Given the description of an element on the screen output the (x, y) to click on. 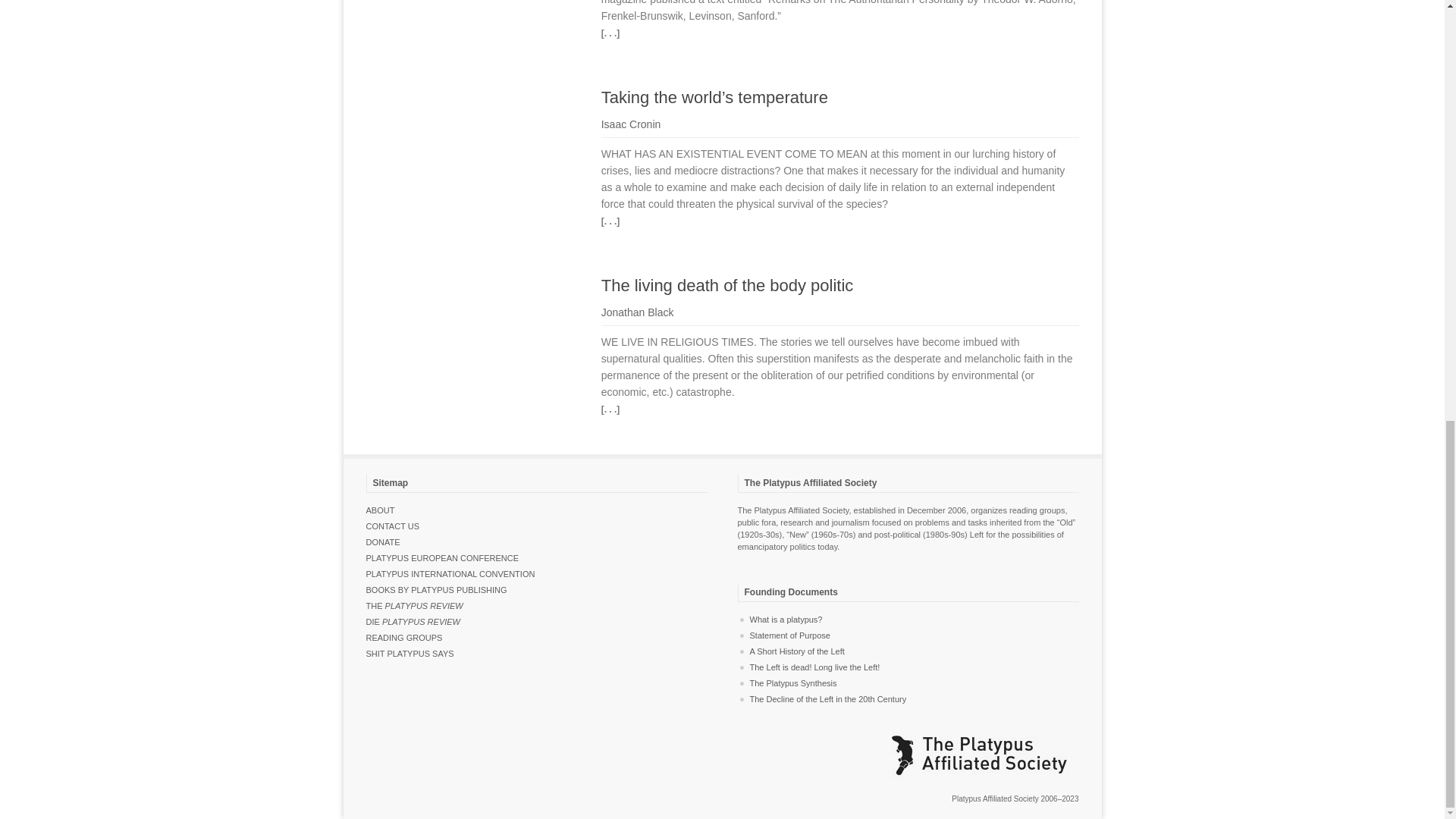
CONTACT US (392, 525)
PLATYPUS EUROPEAN CONFERENCE (441, 557)
ABOUT (379, 510)
PLATYPUS INTERNATIONAL CONVENTION (449, 573)
Isaac Cronin (631, 123)
DONATE (381, 542)
The living death of the body politic (727, 285)
Jonathan Black (637, 312)
